Given the description of an element on the screen output the (x, y) to click on. 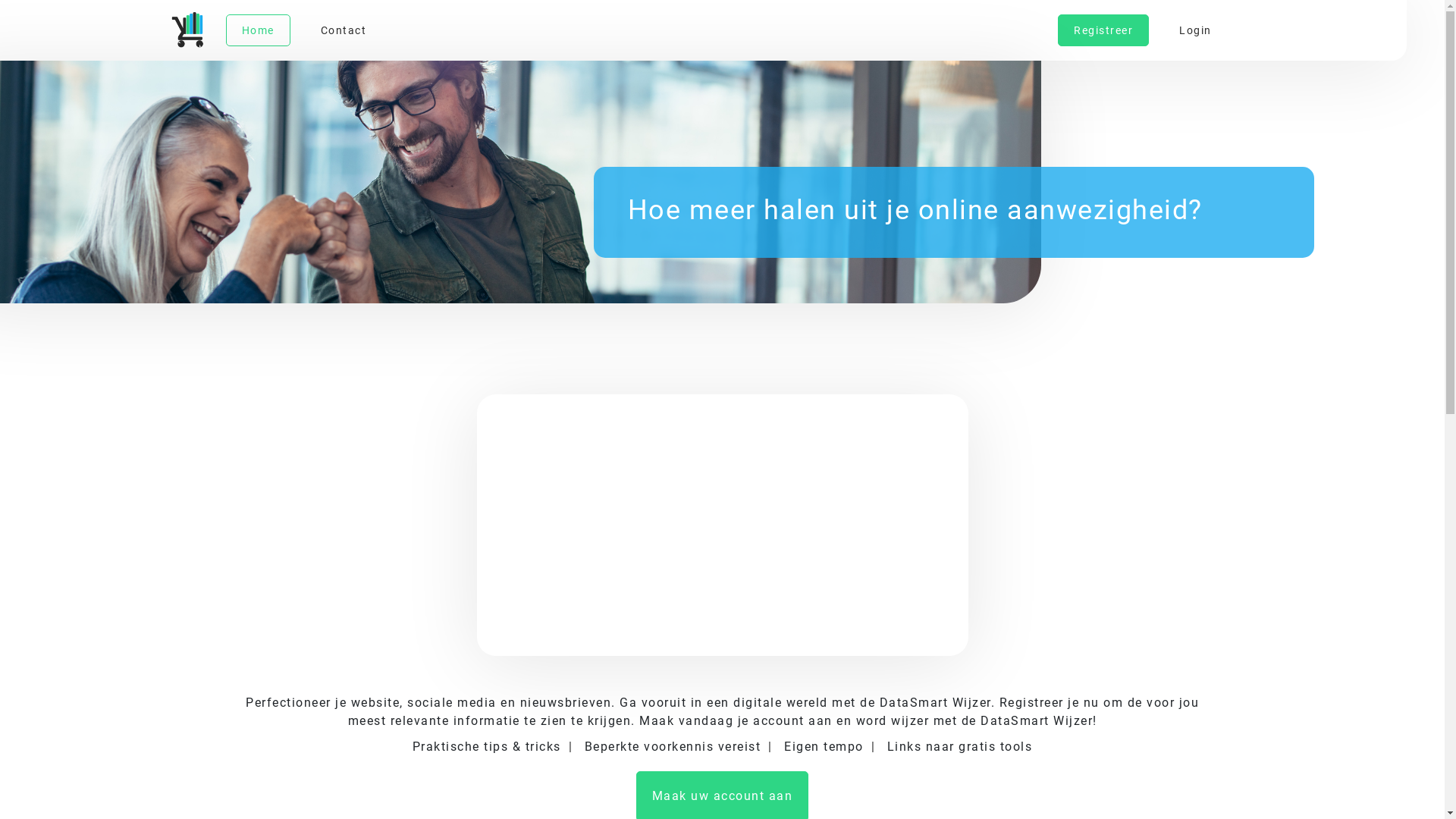
Registreer Element type: text (1102, 30)
Home Element type: text (257, 30)
Contact Element type: text (342, 30)
Login Element type: text (1195, 30)
